Given the description of an element on the screen output the (x, y) to click on. 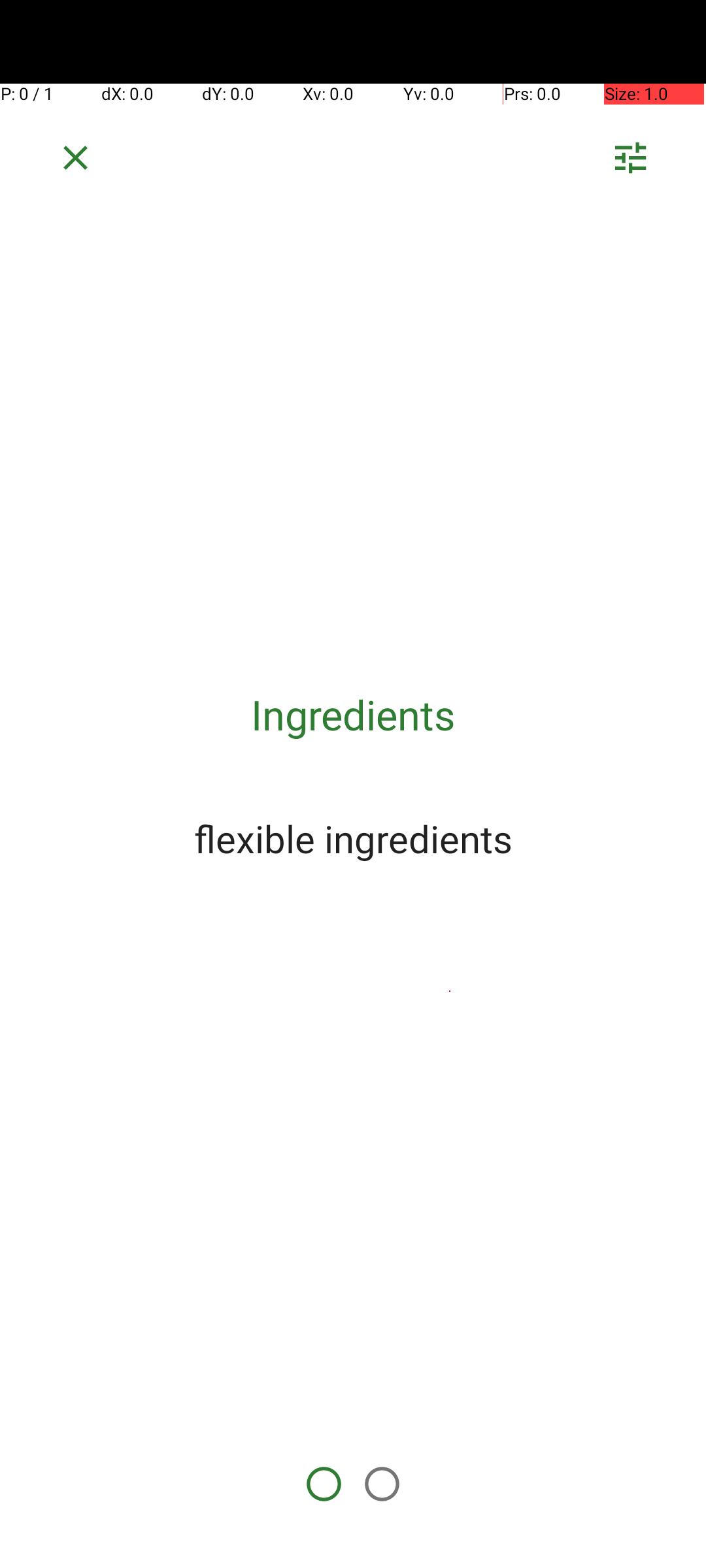
flexible ingredients Element type: android.widget.TextView (352, 838)
